Given the description of an element on the screen output the (x, y) to click on. 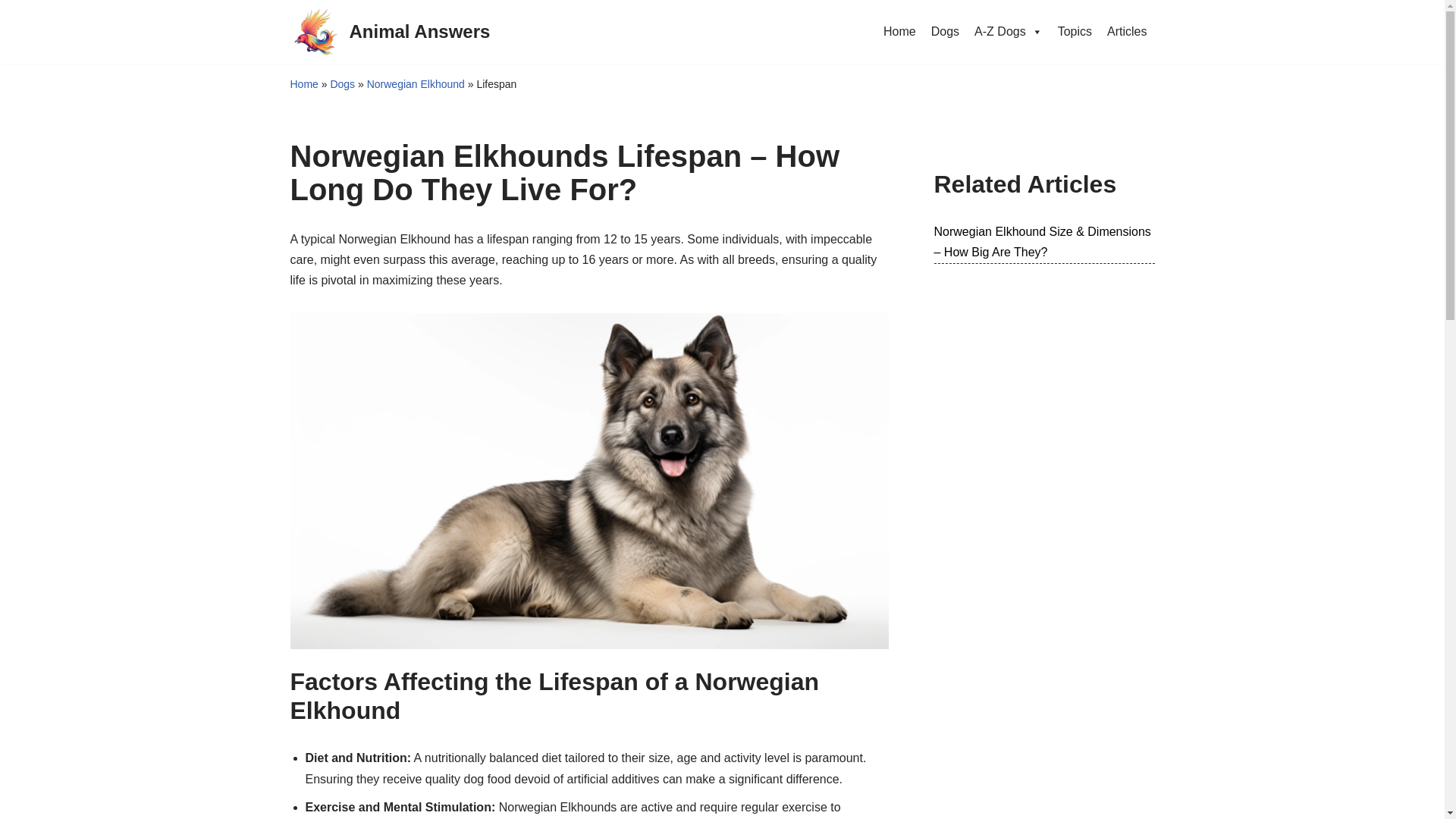
Dogs (944, 31)
Home (899, 31)
A-Z Dogs (1007, 31)
Animal Answers (389, 31)
Skip to content (11, 31)
